Given the description of an element on the screen output the (x, y) to click on. 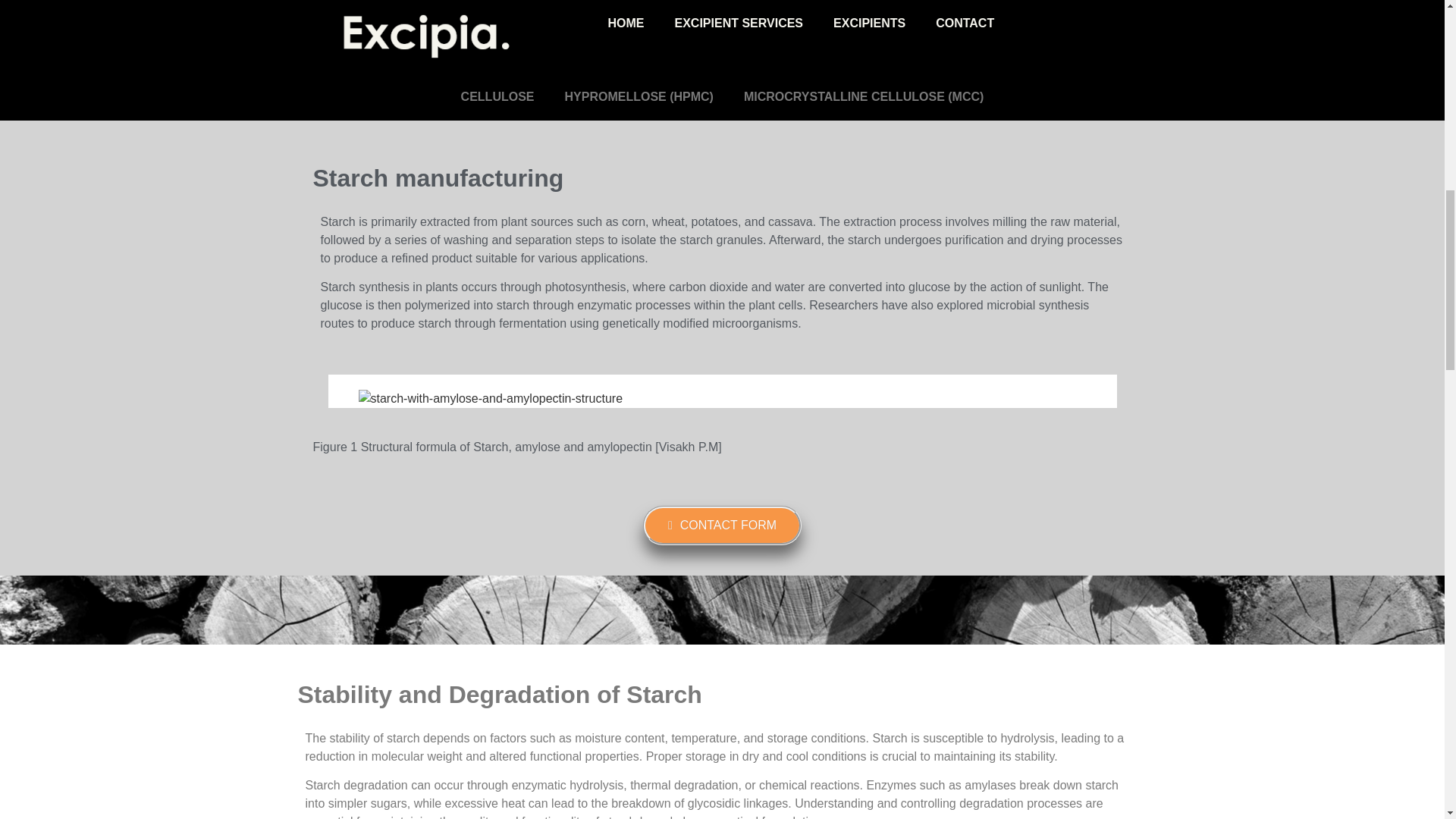
starch-with-amylose-and-amylopectin-structure (490, 398)
